Given the description of an element on the screen output the (x, y) to click on. 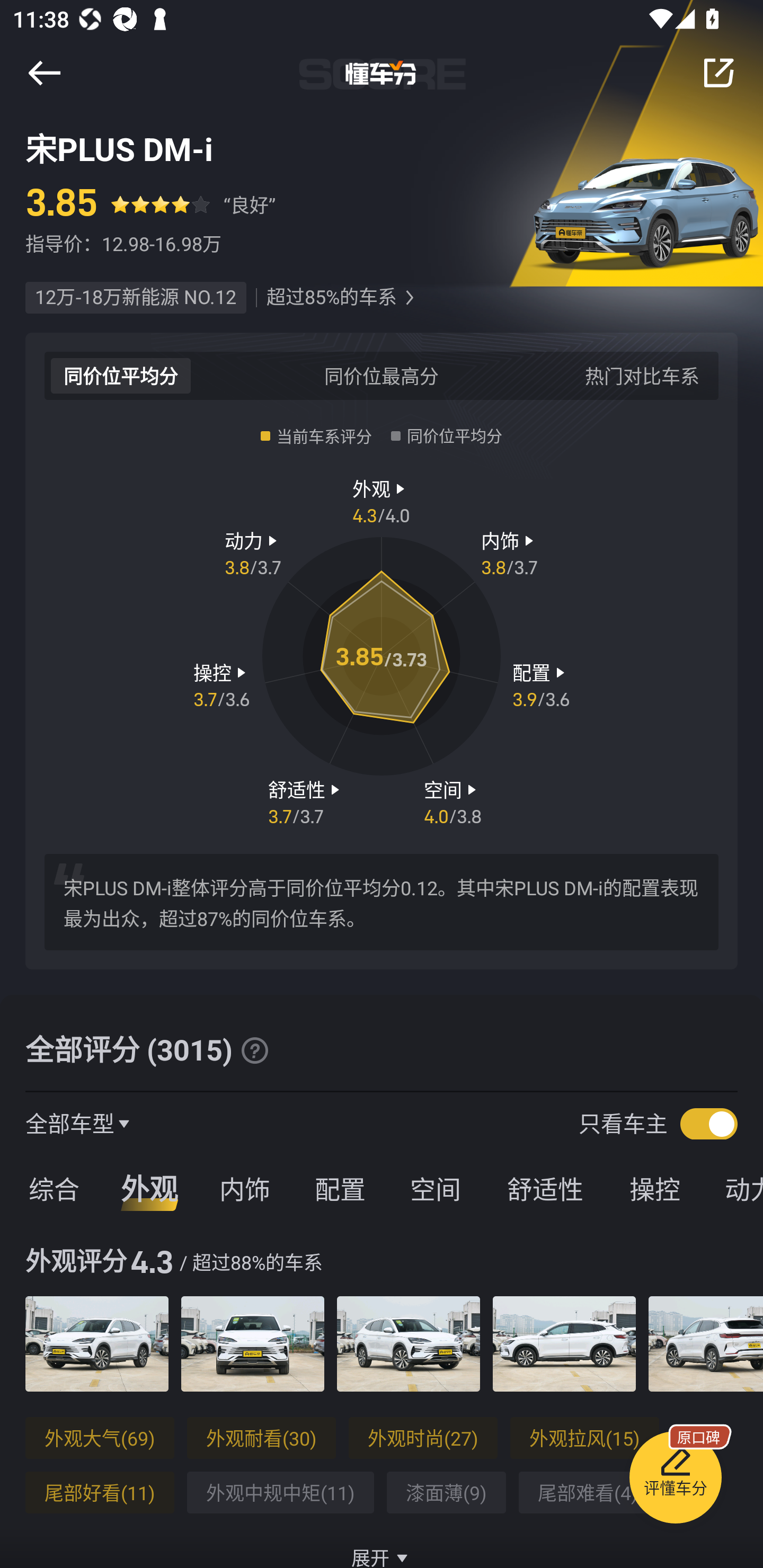
 (44, 72)
 (718, 72)
超过85%的车系 (331, 297)
 (408, 297)
同价位平均分 (120, 375)
同价位最高分 (381, 375)
热门对比车系 (641, 375)
外观  4.3 / 4.0 (381, 500)
动力  3.8 / 3.7 (252, 552)
内饰  3.8 / 3.7 (509, 552)
操控  3.7 / 3.6 (221, 685)
配置  3.9 / 3.6 (540, 685)
舒适性  3.7 / 3.7 (305, 801)
空间  4.0 / 3.8 (452, 801)
 (254, 1050)
全部车型 (69, 1123)
综合 (50, 1188)
内饰 (244, 1188)
配置 (339, 1188)
空间 (434, 1188)
舒适性 (544, 1188)
操控 (654, 1188)
外观大气(69) (99, 1437)
外观耐看(30) (260, 1437)
外观时尚(27) (422, 1437)
外观拉风(15) (584, 1437)
 评懂车分 原口碑 (675, 1480)
尾部好看(11) (99, 1492)
外观中规中矩(11) (279, 1492)
漆面薄(9) (445, 1492)
尾部难看(4) (587, 1492)
展开  (381, 1546)
